Given the description of an element on the screen output the (x, y) to click on. 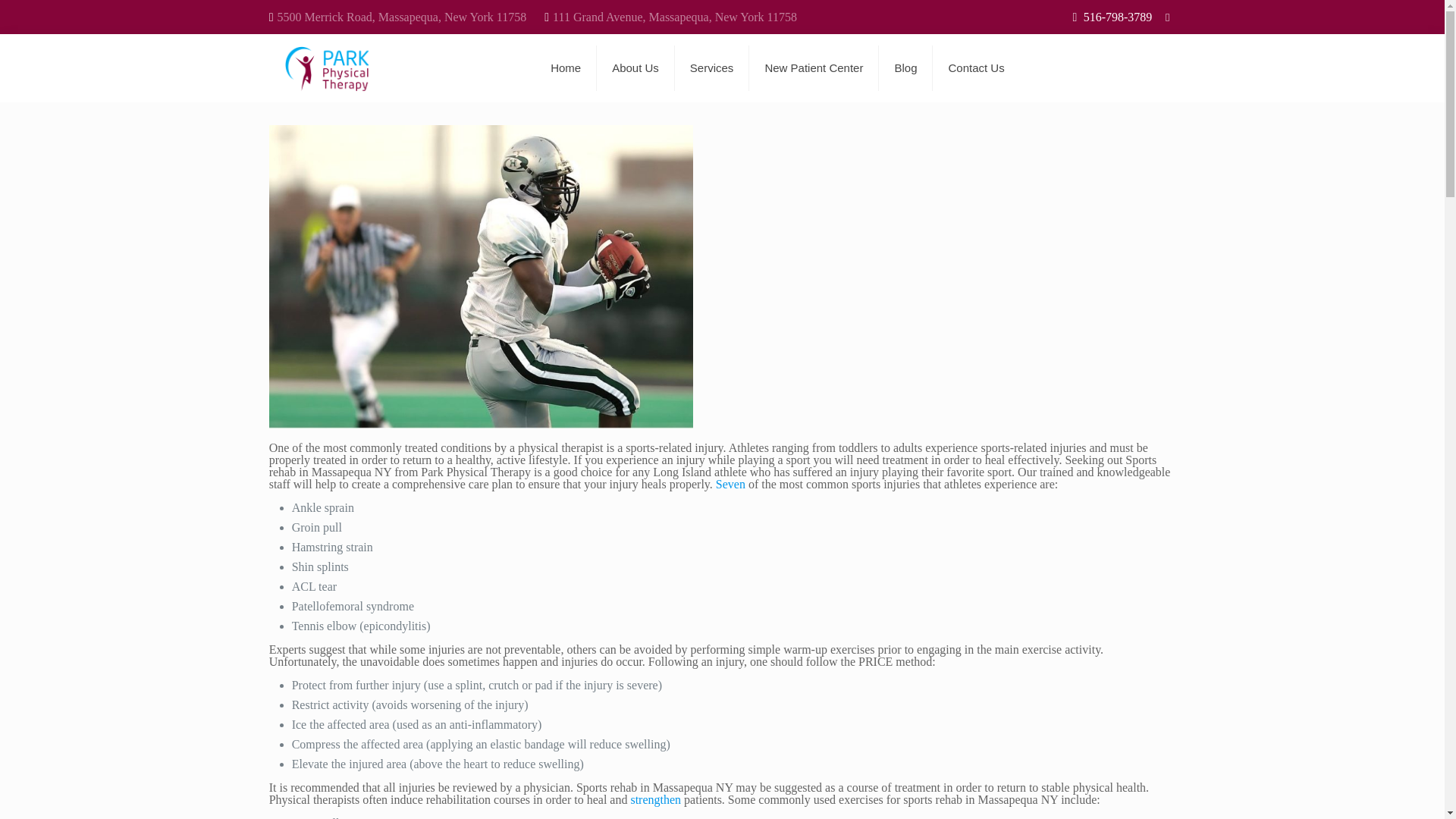
Services (712, 68)
New Patient Center (814, 68)
Home (565, 68)
Park Physical Therapy (326, 68)
Blog (906, 68)
Seven (730, 483)
Contact Us (976, 68)
strengthen (655, 799)
About Us (635, 68)
Facebook (1166, 17)
